Given the description of an element on the screen output the (x, y) to click on. 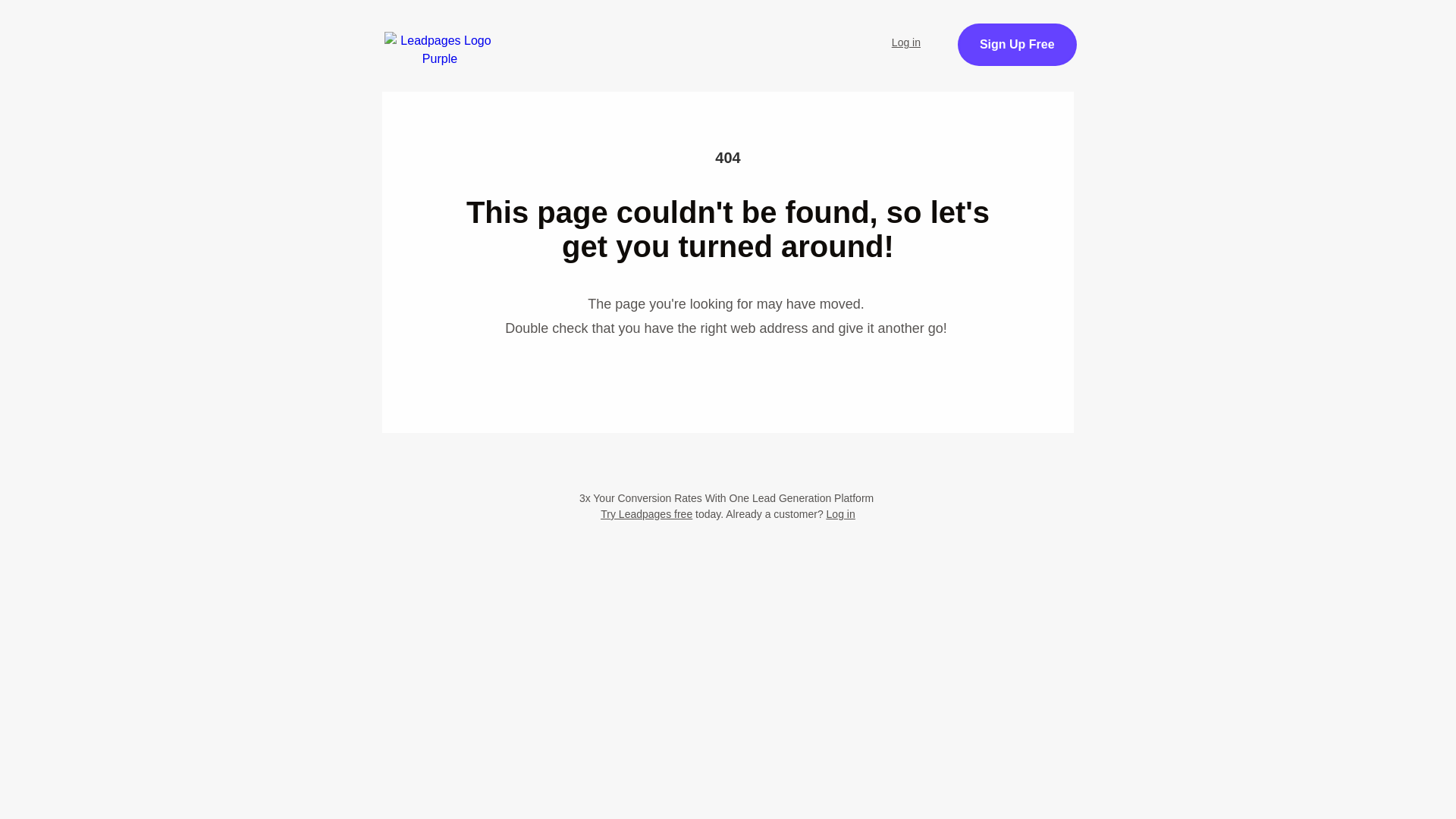
Give To The Ministry (529, 74)
Our Verse of the Day (791, 33)
Start Spiritual Gifts Test (627, 33)
HOME (501, 33)
Get Free Prophecy (1070, 53)
Get Free Book From The Ministry (727, 150)
